Given the description of an element on the screen output the (x, y) to click on. 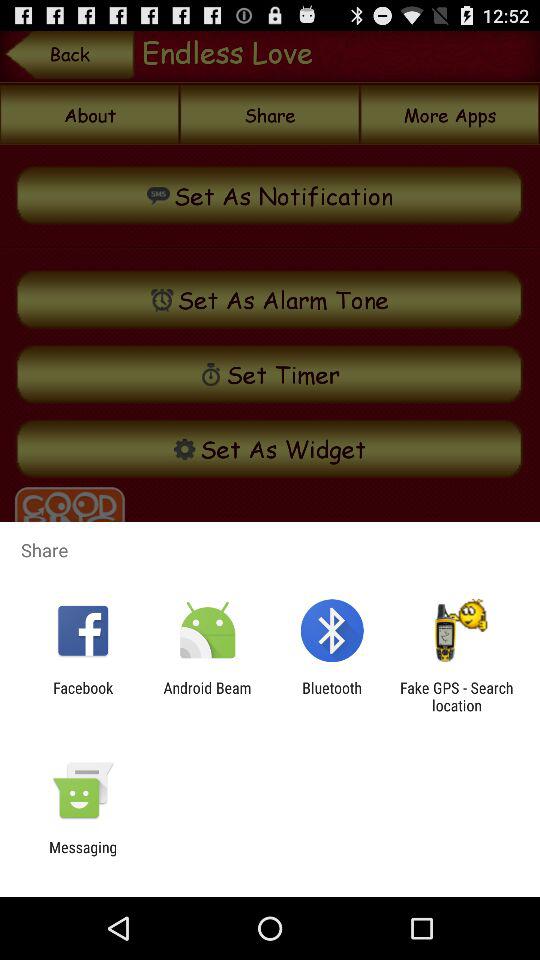
choose the item at the bottom right corner (456, 696)
